Given the description of an element on the screen output the (x, y) to click on. 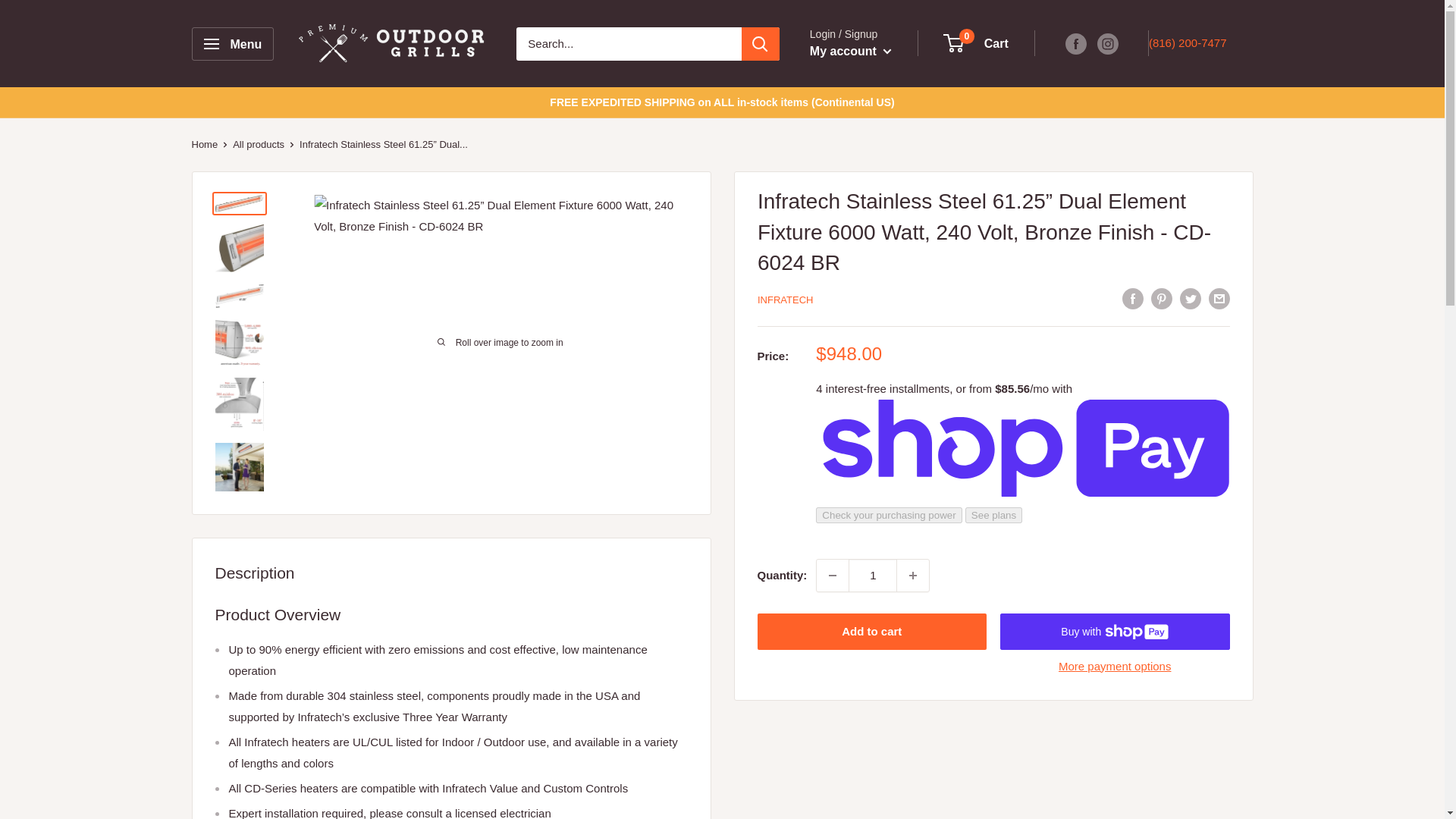
Decrease quantity by 1 (832, 575)
1 (872, 575)
Increase quantity by 1 (912, 575)
